Given the description of an element on the screen output the (x, y) to click on. 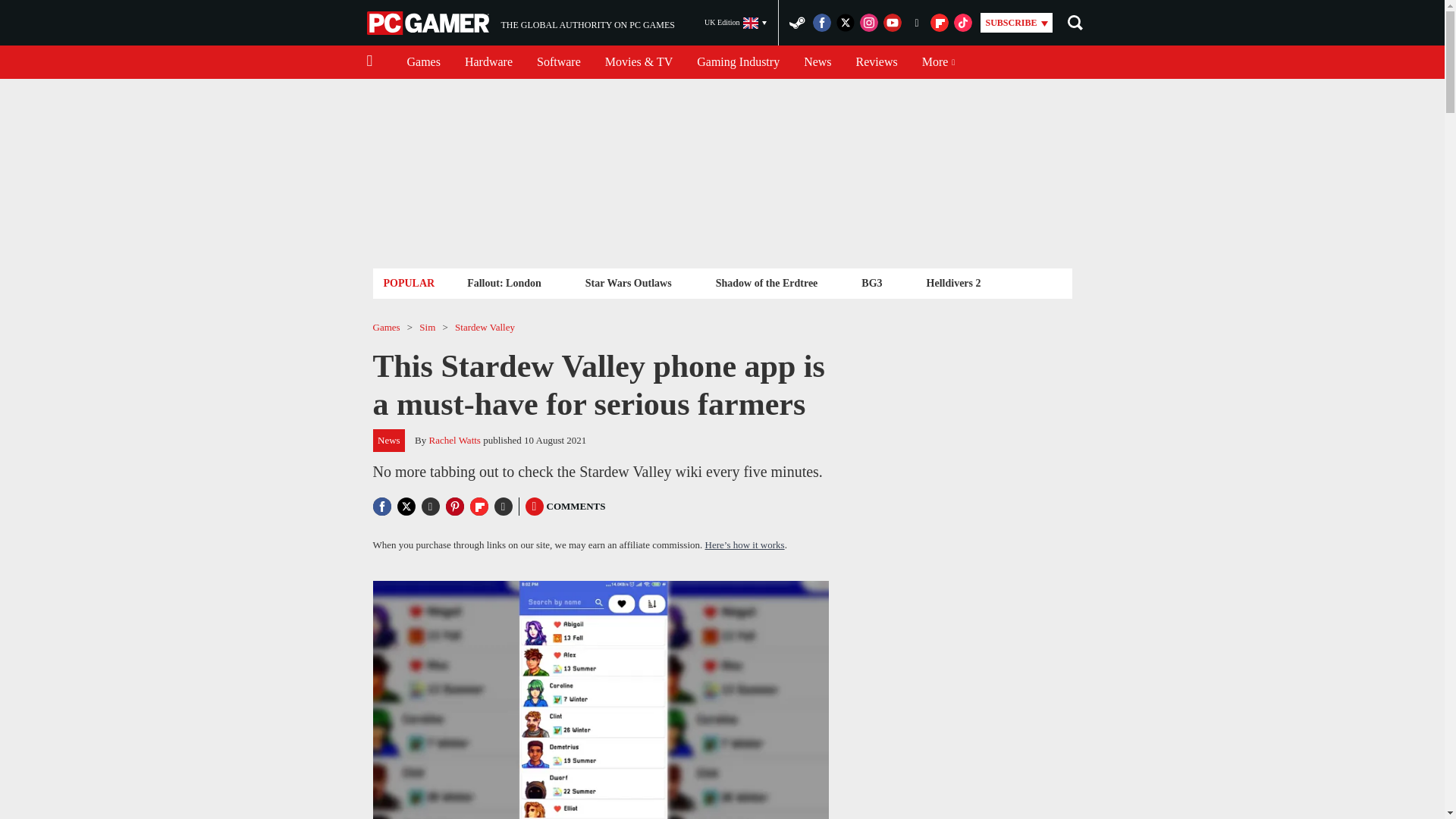
Software (558, 61)
Hardware (488, 61)
Star Wars Outlaws (520, 22)
PC Gamer (628, 282)
Reviews (429, 22)
Fallout: London (877, 61)
UK Edition (504, 282)
News (735, 22)
Gaming Industry (817, 61)
